Given the description of an element on the screen output the (x, y) to click on. 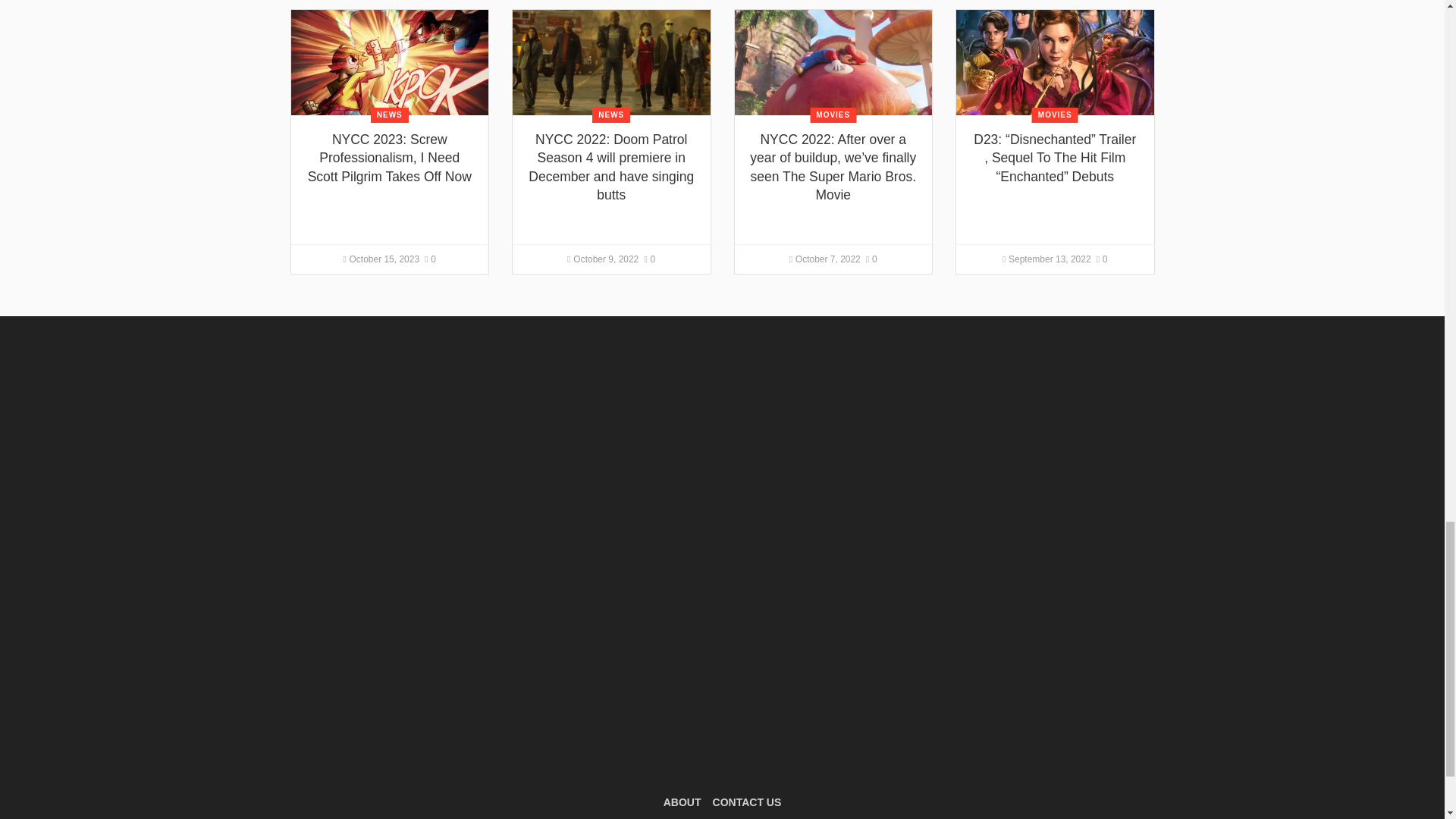
0 (430, 258)
October 15, 2023 at 10:00 am (381, 258)
NEWS (390, 114)
